Given the description of an element on the screen output the (x, y) to click on. 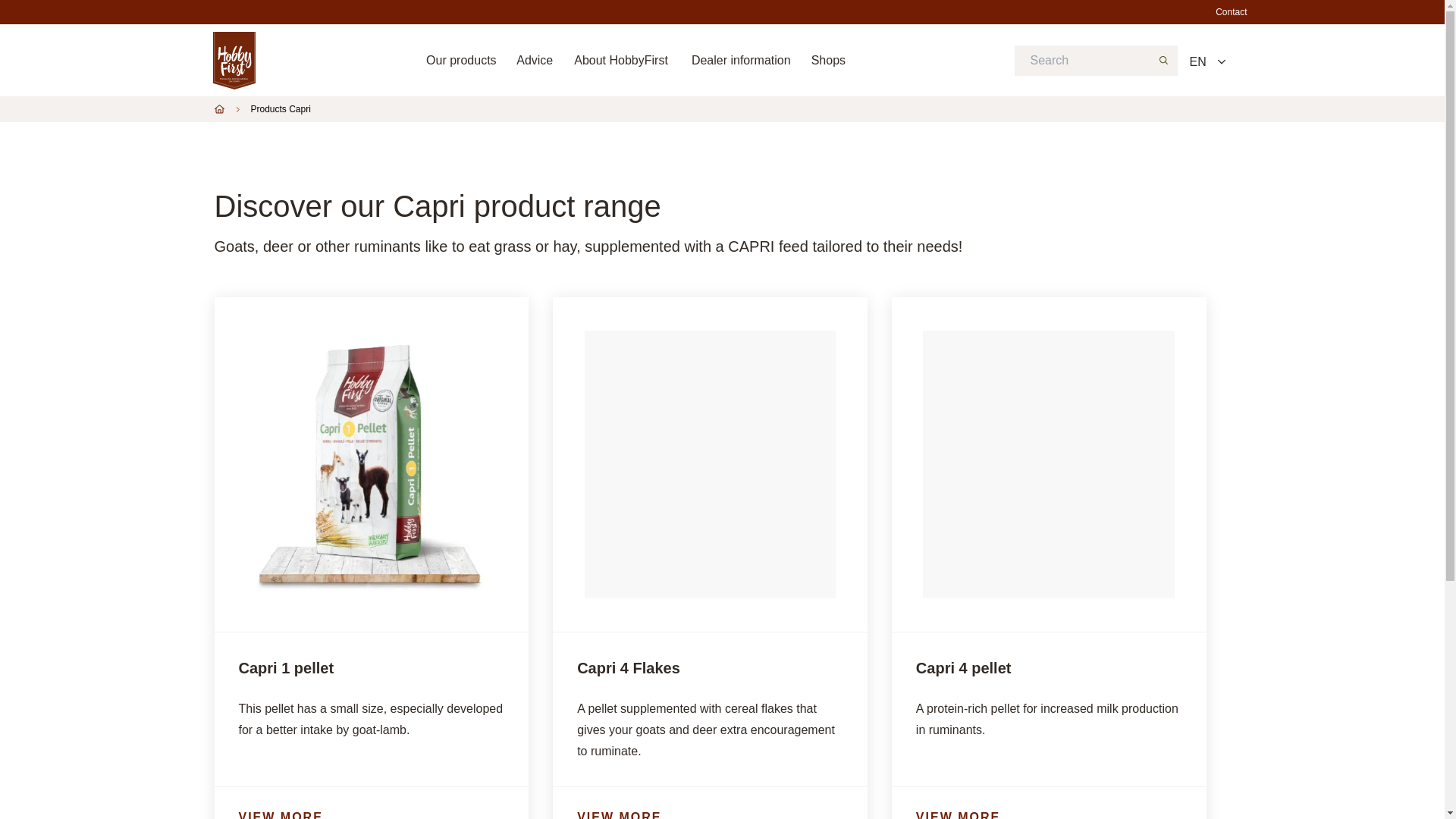
VIEW MORE (709, 815)
EN (1206, 61)
Capri 4 Flakes (627, 668)
Products Capri (280, 109)
VIEW MORE (1048, 815)
Our products (461, 60)
Capri 1 pellet (285, 668)
About HobbyFirst (620, 60)
Our products (461, 60)
Capri 4 pellet (963, 668)
